Given the description of an element on the screen output the (x, y) to click on. 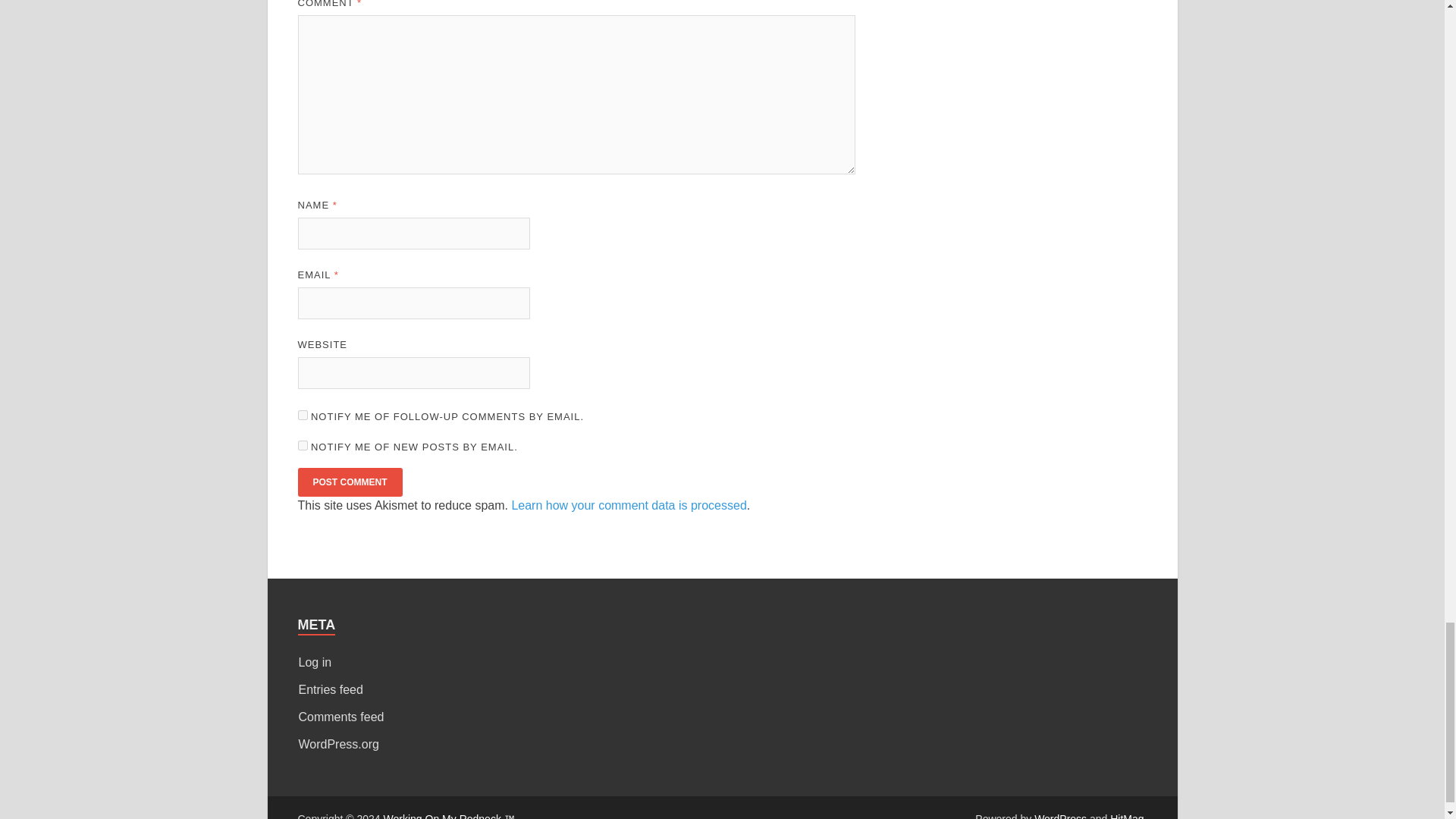
Learn how your comment data is processed (628, 504)
Post Comment (349, 481)
subscribe (302, 415)
Post Comment (349, 481)
subscribe (302, 445)
